Given the description of an element on the screen output the (x, y) to click on. 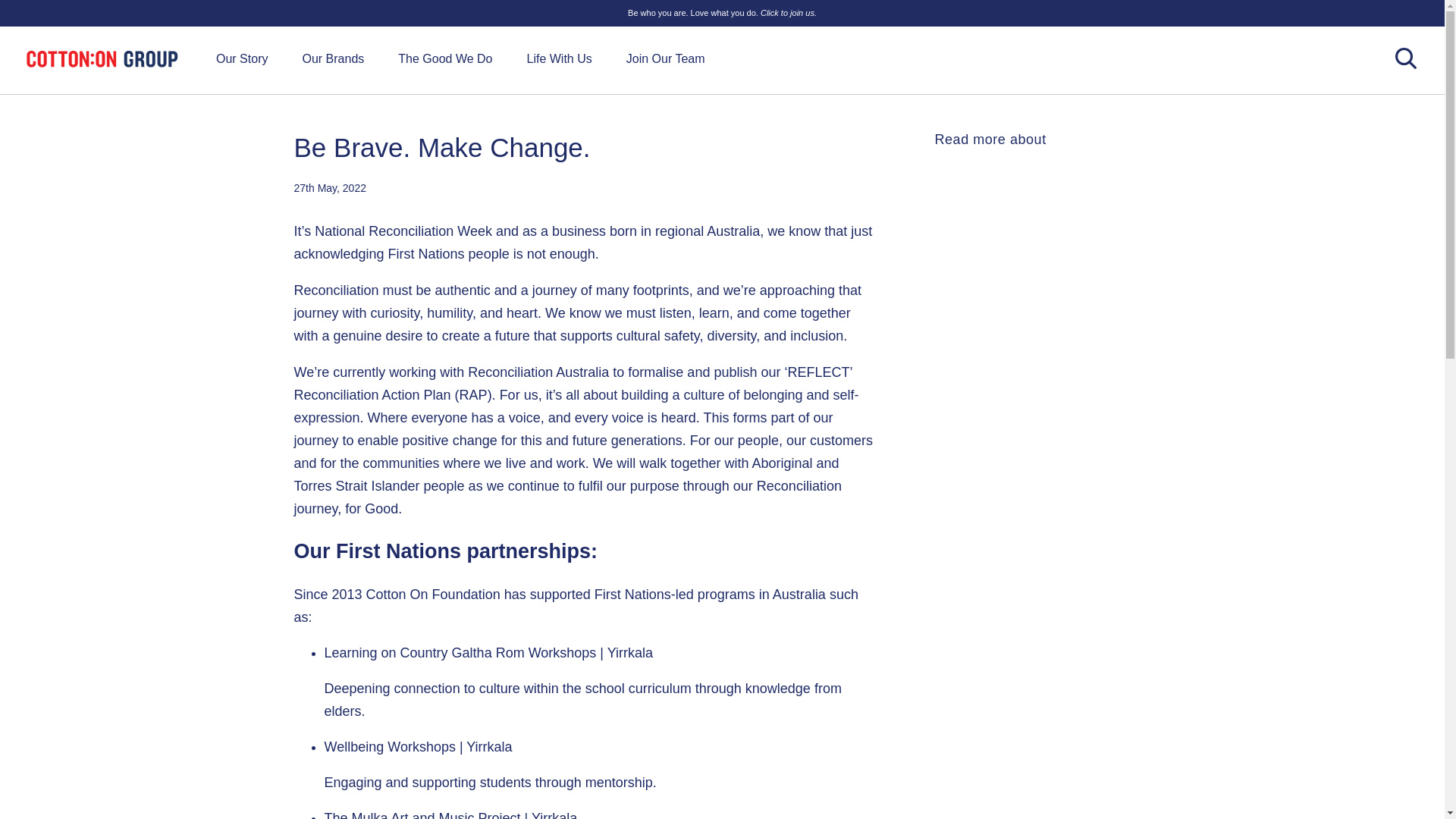
Life With Us (558, 58)
The Good We Do (444, 58)
Our Brands (332, 58)
Our Story (241, 58)
